Given the description of an element on the screen output the (x, y) to click on. 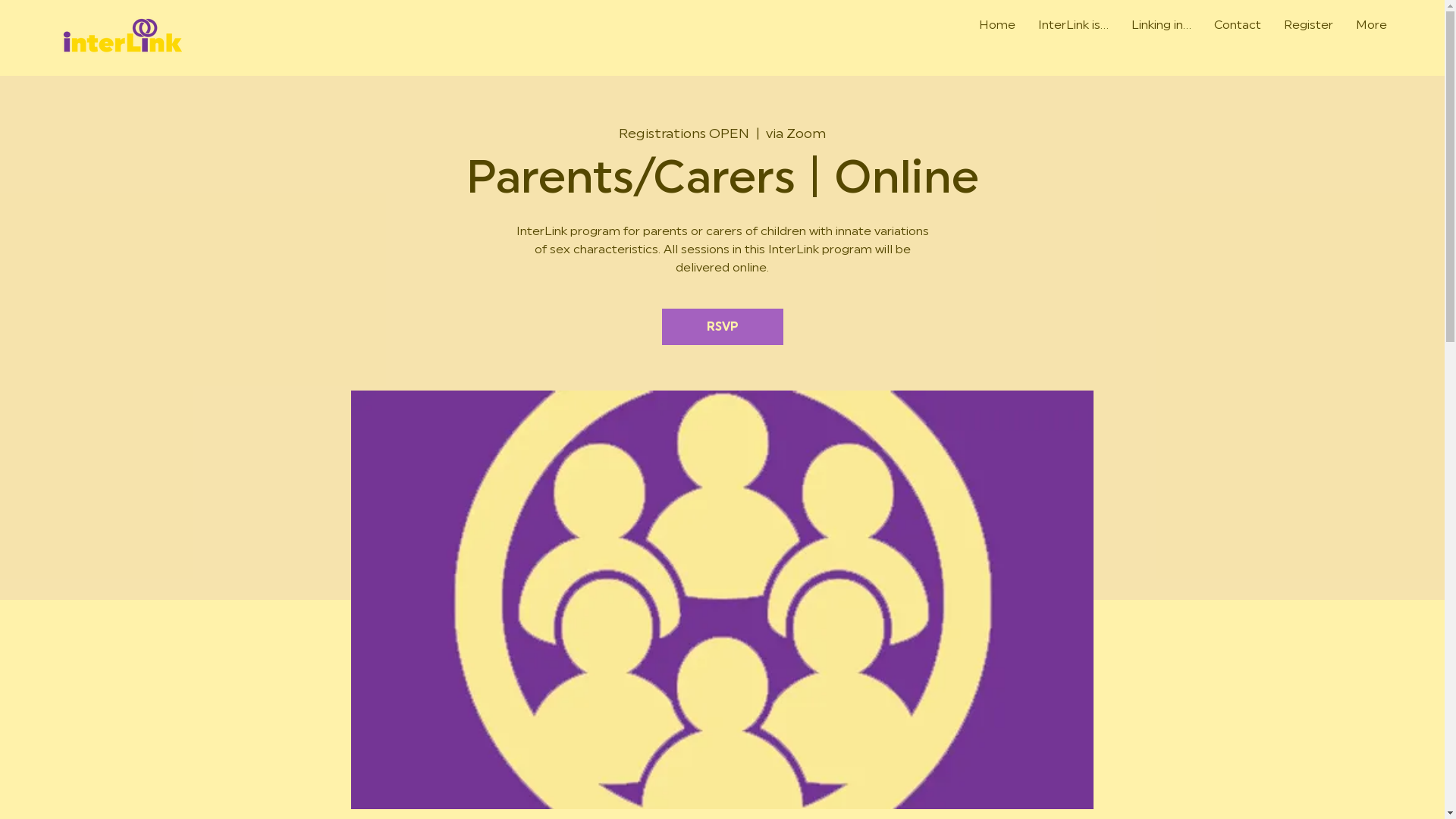
Home Element type: text (996, 35)
Contact Element type: text (1237, 35)
Linking in... Element type: text (1161, 35)
RSVP Element type: text (721, 326)
InterLink is... Element type: text (1073, 35)
Register Element type: text (1308, 35)
